Given the description of an element on the screen output the (x, y) to click on. 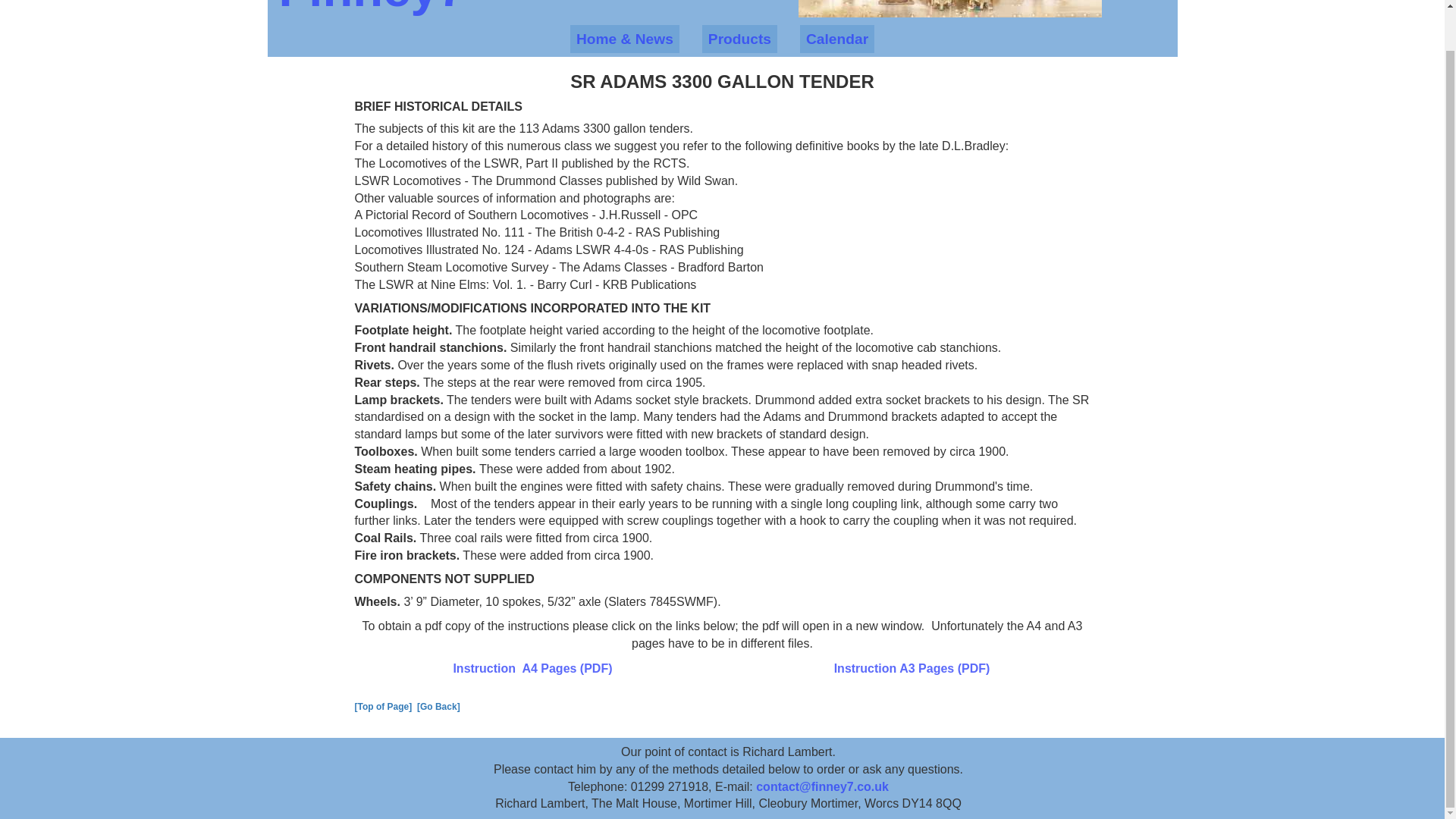
Calendar (837, 39)
Products (739, 39)
Click to send an email to Richard Lambert (821, 786)
Calendar (837, 39)
Products (739, 39)
